Given the description of an element on the screen output the (x, y) to click on. 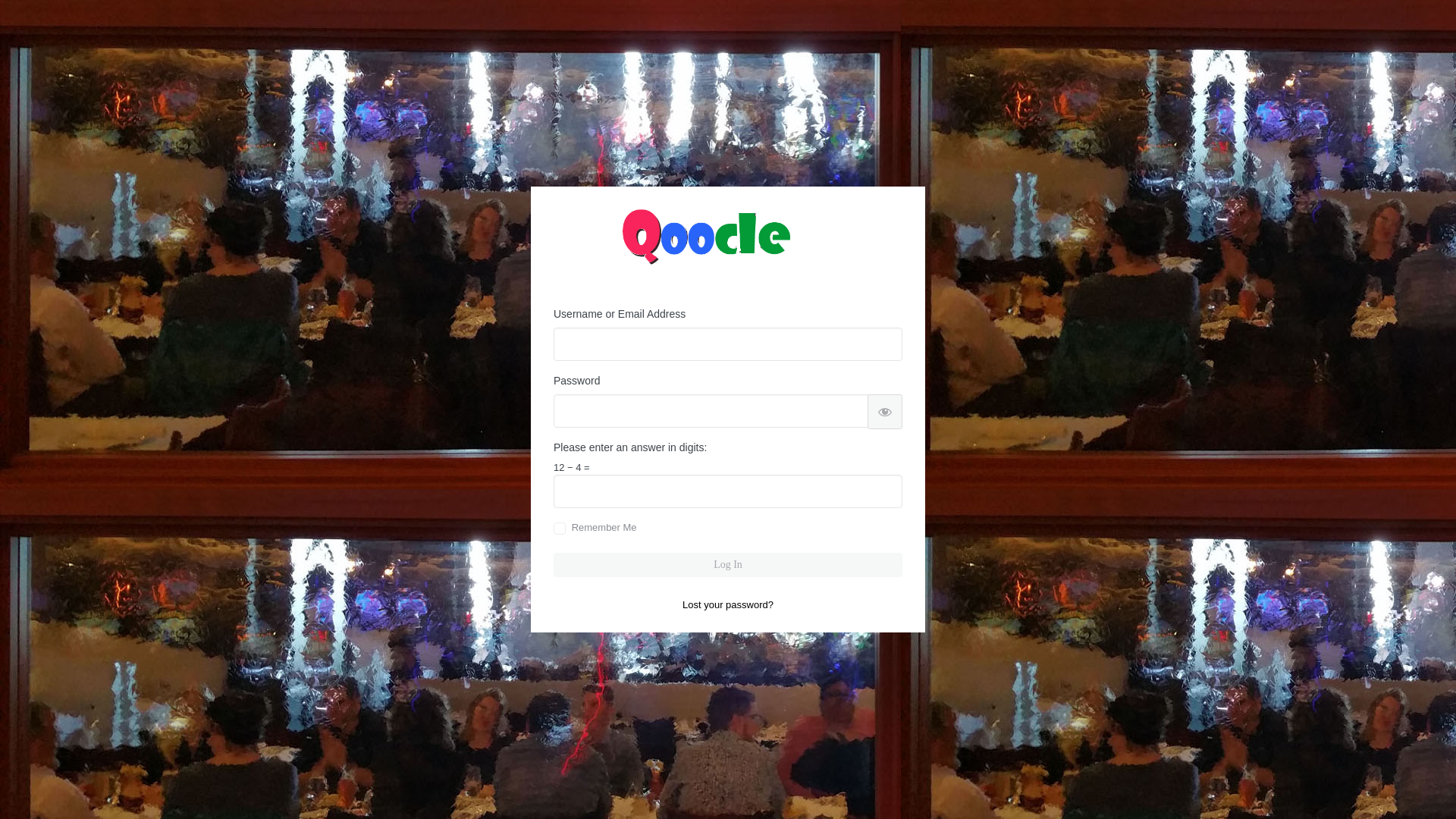
forever (559, 527)
Log In (727, 564)
Lost your password? (727, 604)
Powered by WordPress (727, 247)
Log In (727, 564)
